Given the description of an element on the screen output the (x, y) to click on. 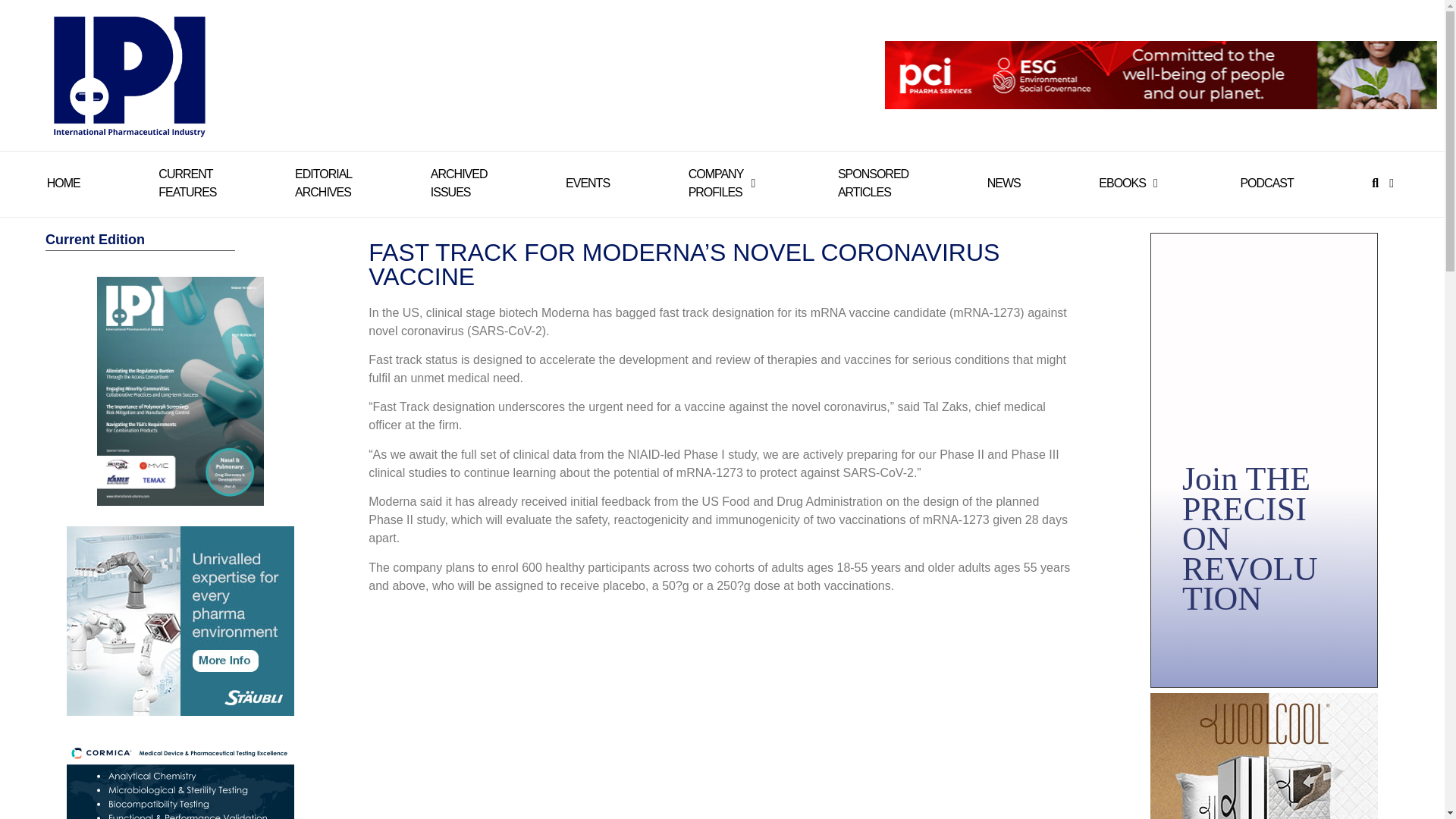
EVENTS (588, 183)
NEWS (323, 183)
PODCAST (458, 183)
HOME (873, 183)
